Given the description of an element on the screen output the (x, y) to click on. 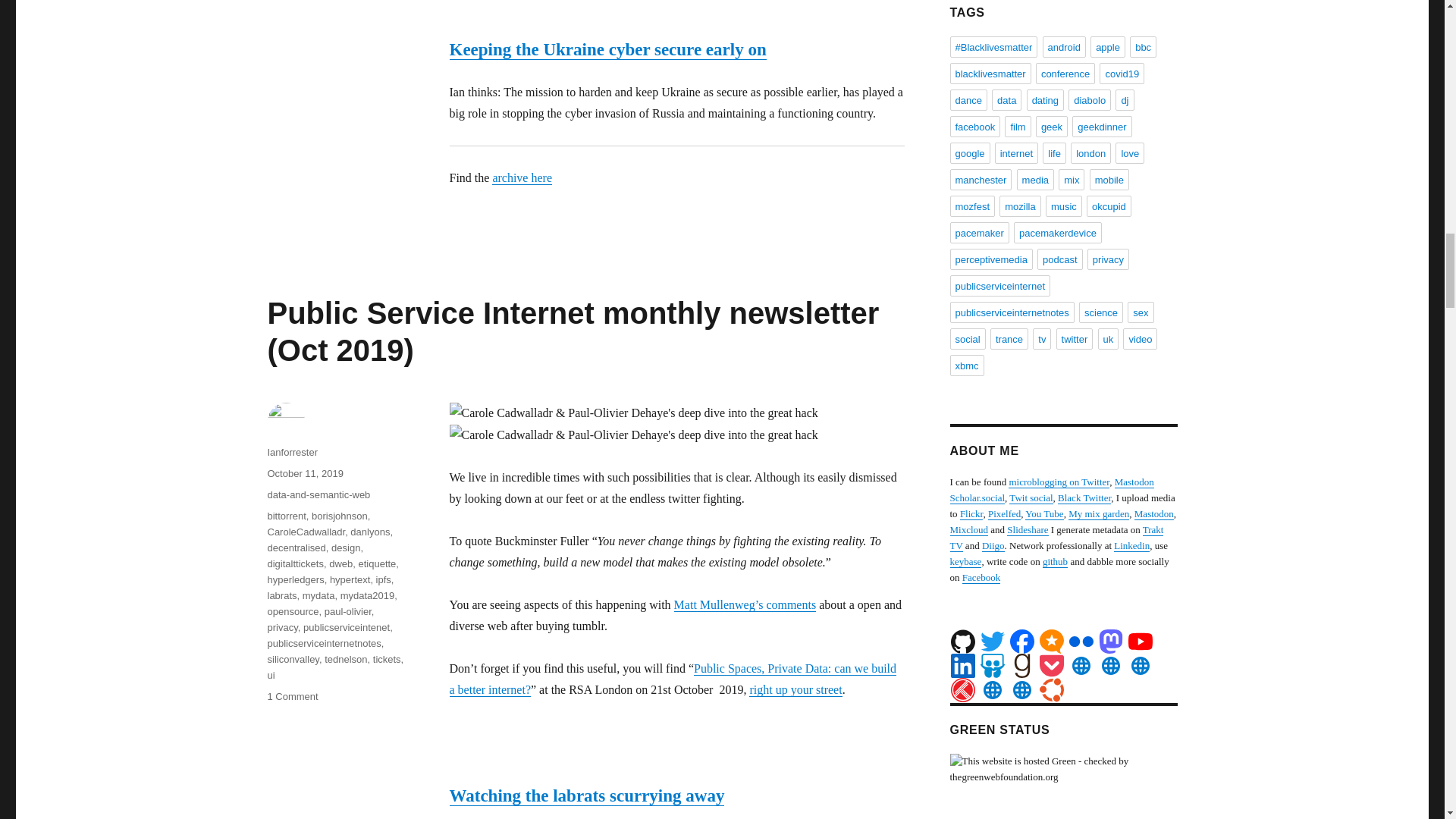
Goodreads (1021, 665)
Mastodon (1109, 641)
Keeping the Ukraine cyber secure early on (606, 49)
Trakt (962, 689)
GitHub (962, 641)
Micro.blog (1050, 641)
YouTube (1140, 641)
Ubuntu (1050, 689)
archive here (521, 177)
Facebook (1021, 641)
LinkedIn (962, 665)
Flickr (1080, 641)
Pocket (1050, 665)
SlideShare (991, 665)
Twitter (991, 641)
